Given the description of an element on the screen output the (x, y) to click on. 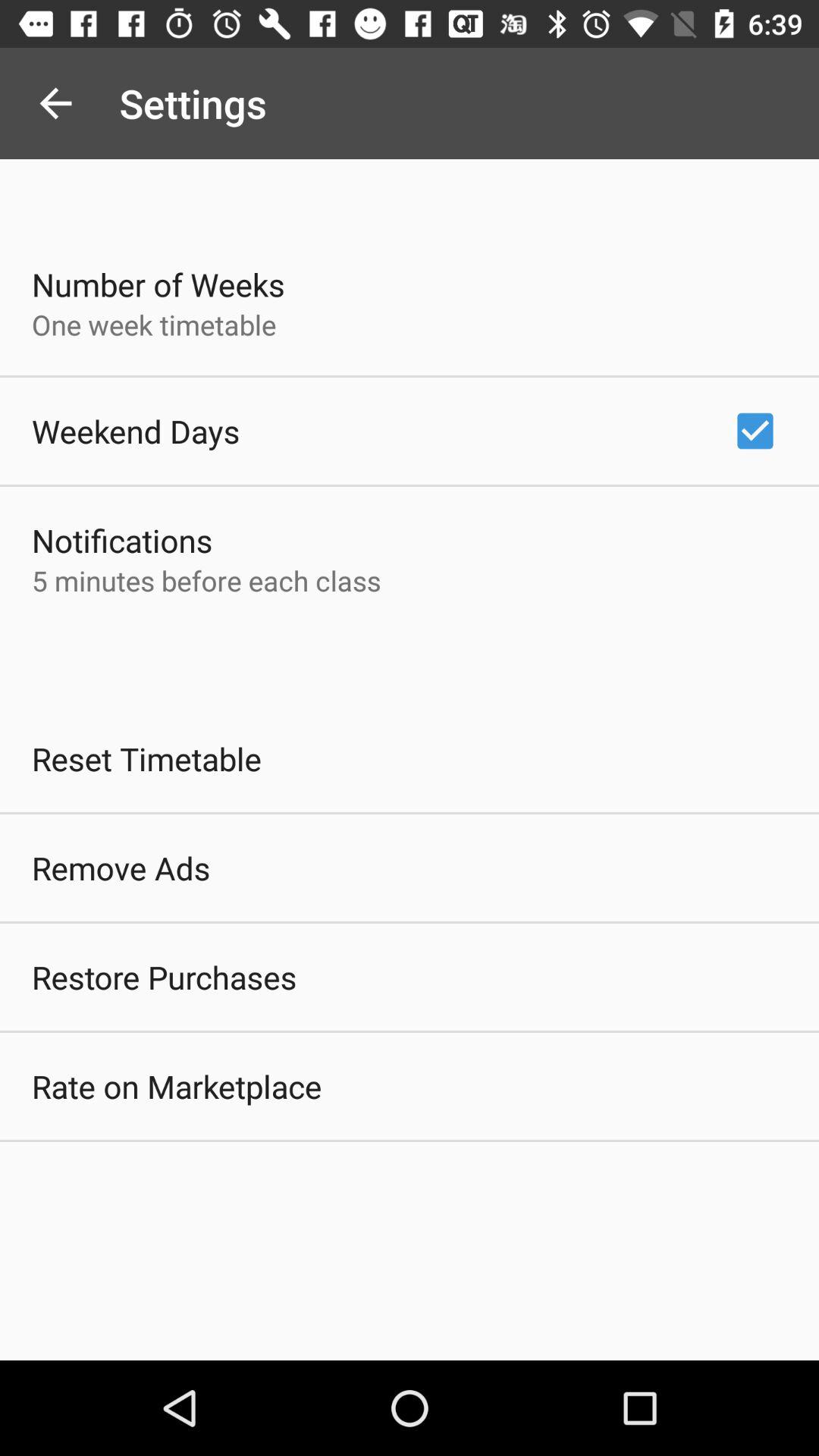
flip to the remove ads app (120, 867)
